Given the description of an element on the screen output the (x, y) to click on. 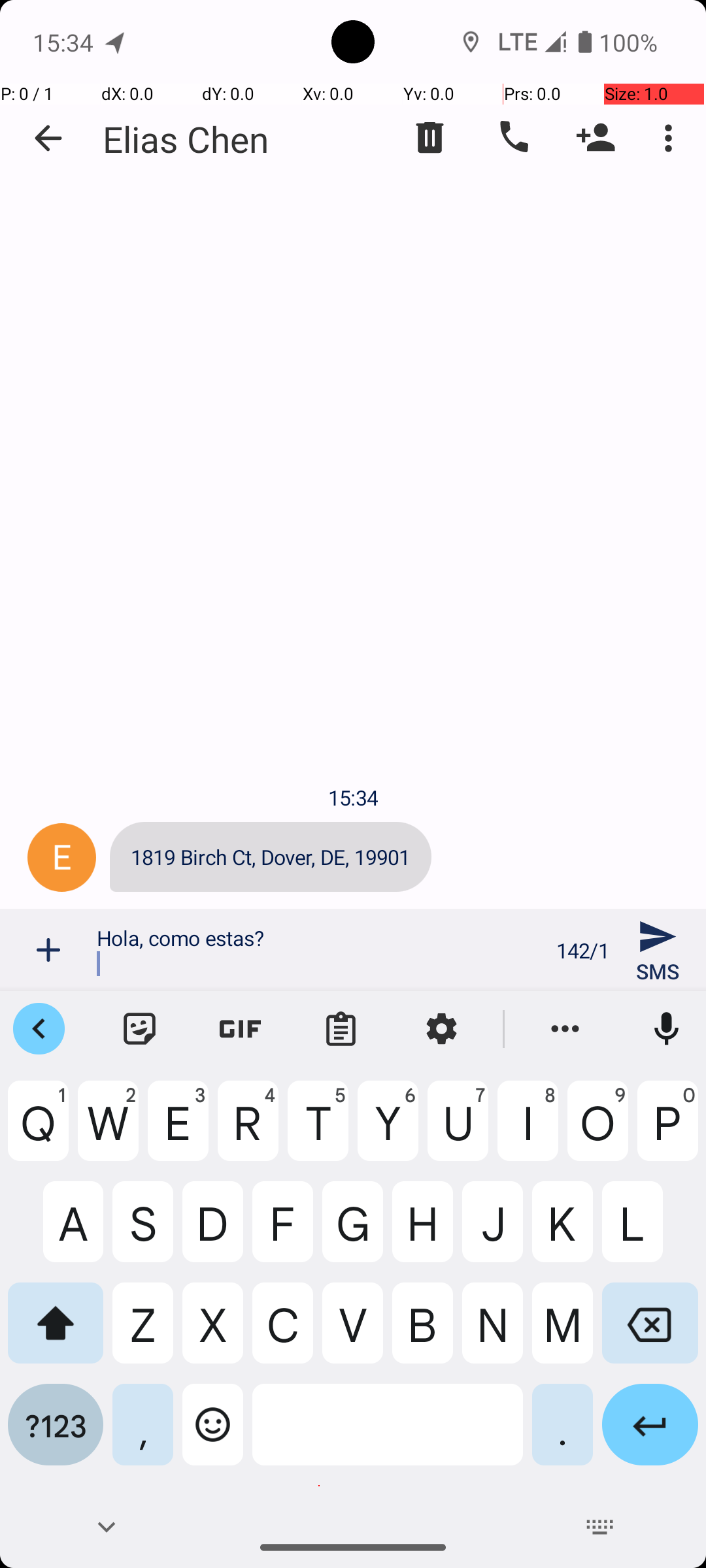
Elias Chen Element type: android.widget.TextView (185, 138)
Eliminar Element type: android.widget.Button (429, 137)
Marcar número Element type: android.widget.Button (512, 137)
Añadir persona Element type: android.widget.Button (595, 137)
Archivo adjunto Element type: android.widget.ImageView (48, 949)
Hola, como estas?
 Element type: android.widget.EditText (318, 949)
142/1 Element type: android.widget.TextView (582, 950)
1819 Birch Ct, Dover, DE, 19901 Element type: android.widget.TextView (270, 856)
